Given the description of an element on the screen output the (x, y) to click on. 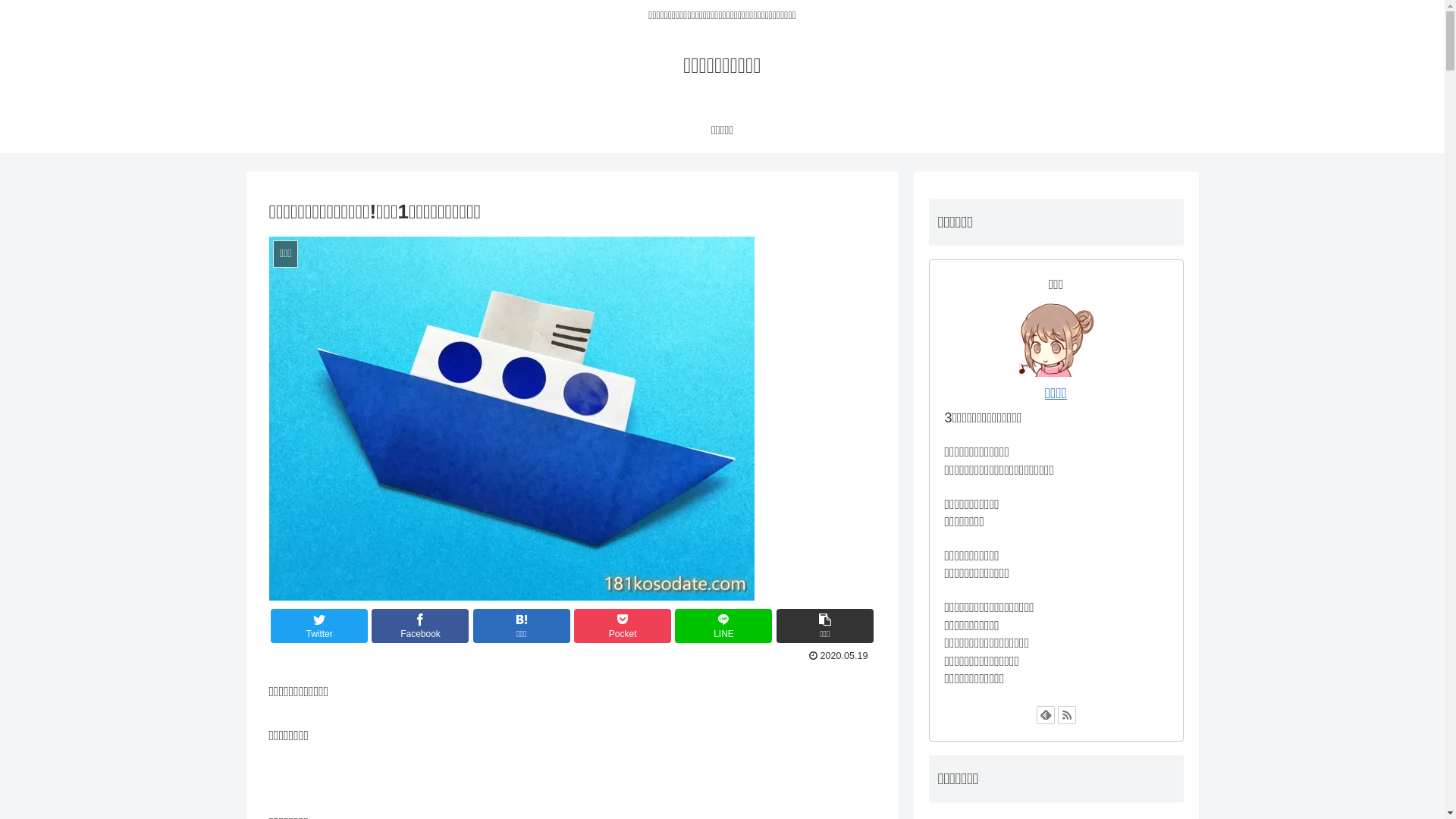
LINE Element type: text (722, 625)
Facebook Element type: text (419, 625)
Twitter Element type: text (318, 625)
Pocket Element type: text (622, 625)
